Given the description of an element on the screen output the (x, y) to click on. 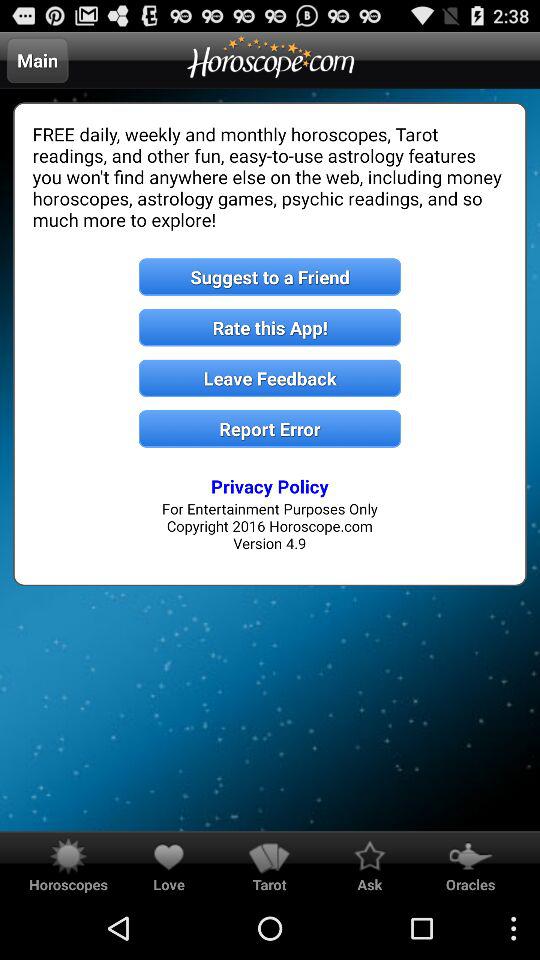
flip until rate this app! icon (269, 327)
